Given the description of an element on the screen output the (x, y) to click on. 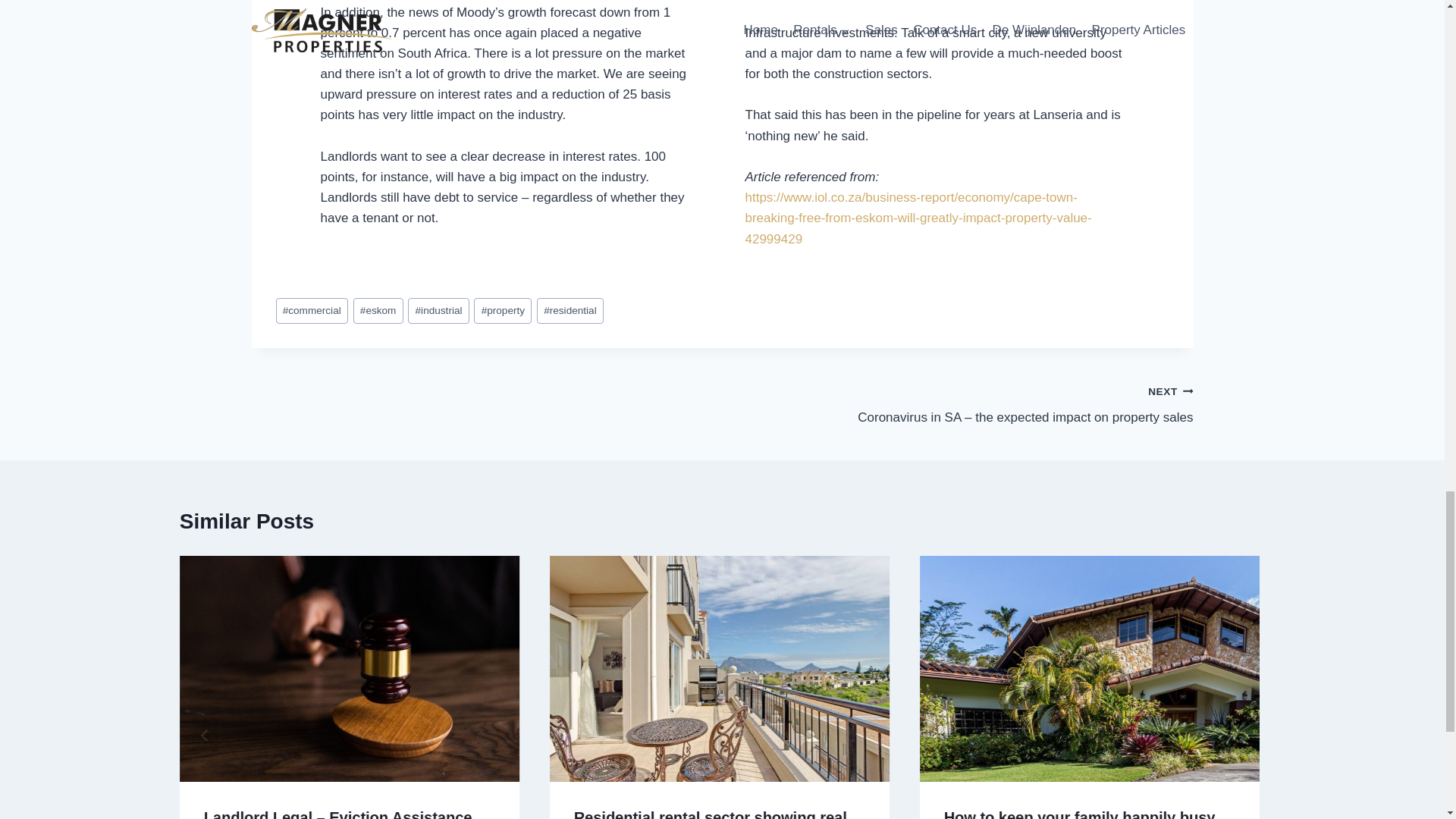
residential (570, 311)
commercial (311, 311)
industrial (437, 311)
eskom (378, 311)
property (502, 311)
